Given the description of an element on the screen output the (x, y) to click on. 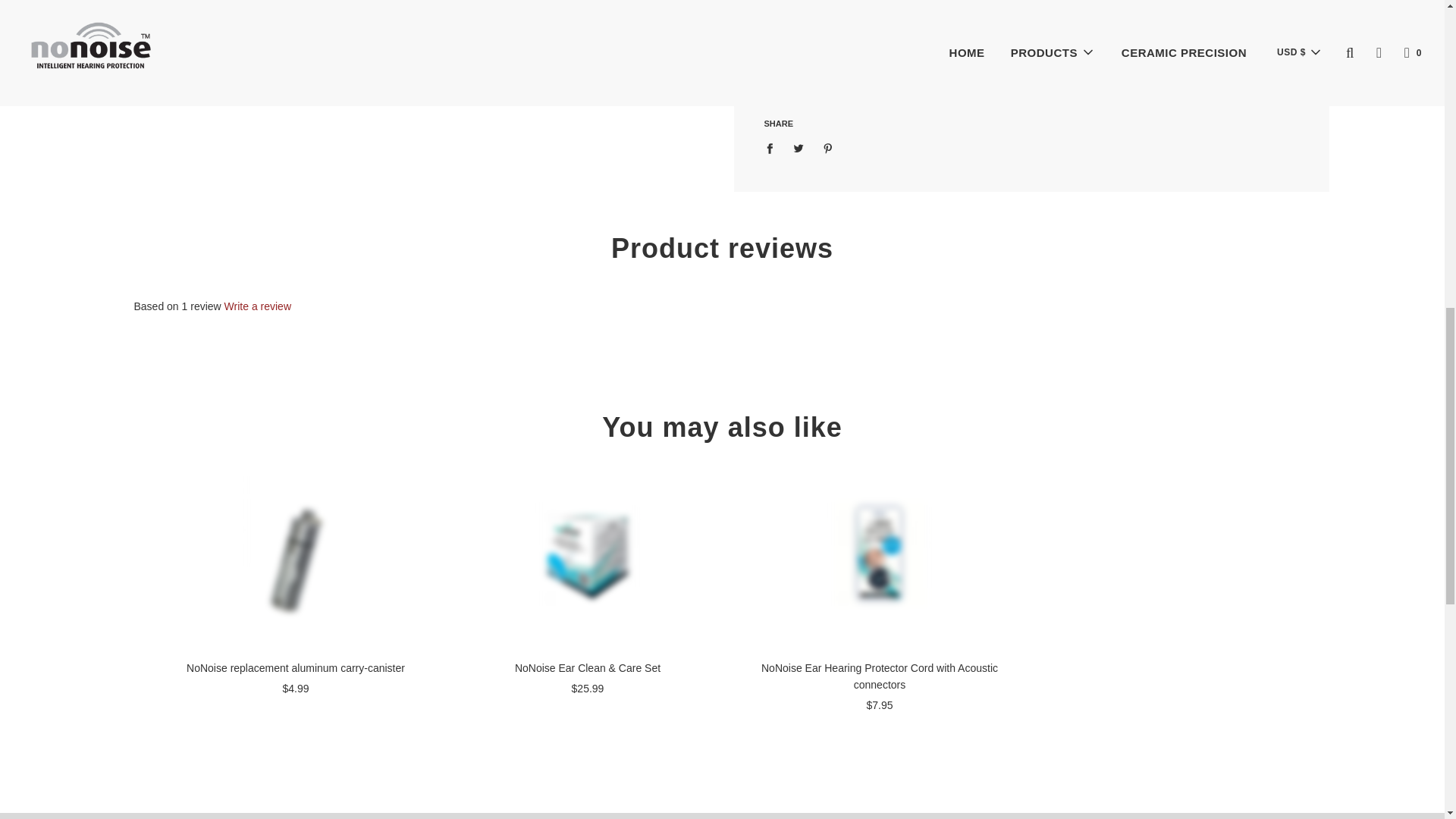
NoNoise replacement aluminum carry-canister (294, 553)
NoNoise Ear Hearing Protector Cord with Acoustic connectors (878, 553)
